Given the description of an element on the screen output the (x, y) to click on. 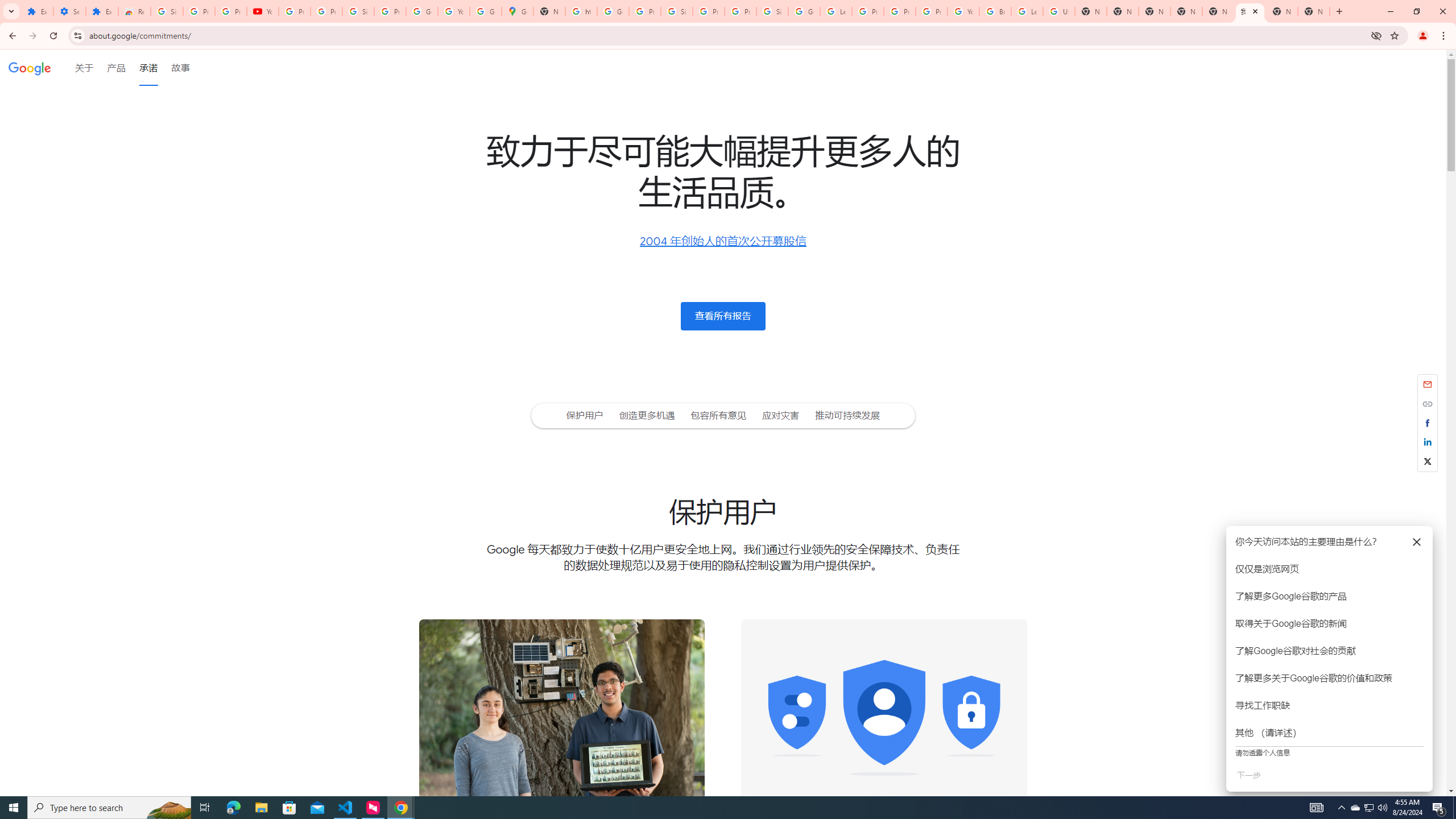
YouTube (453, 11)
Sign in - Google Accounts (676, 11)
Sign in - Google Accounts (358, 11)
Extensions (101, 11)
